Given the description of an element on the screen output the (x, y) to click on. 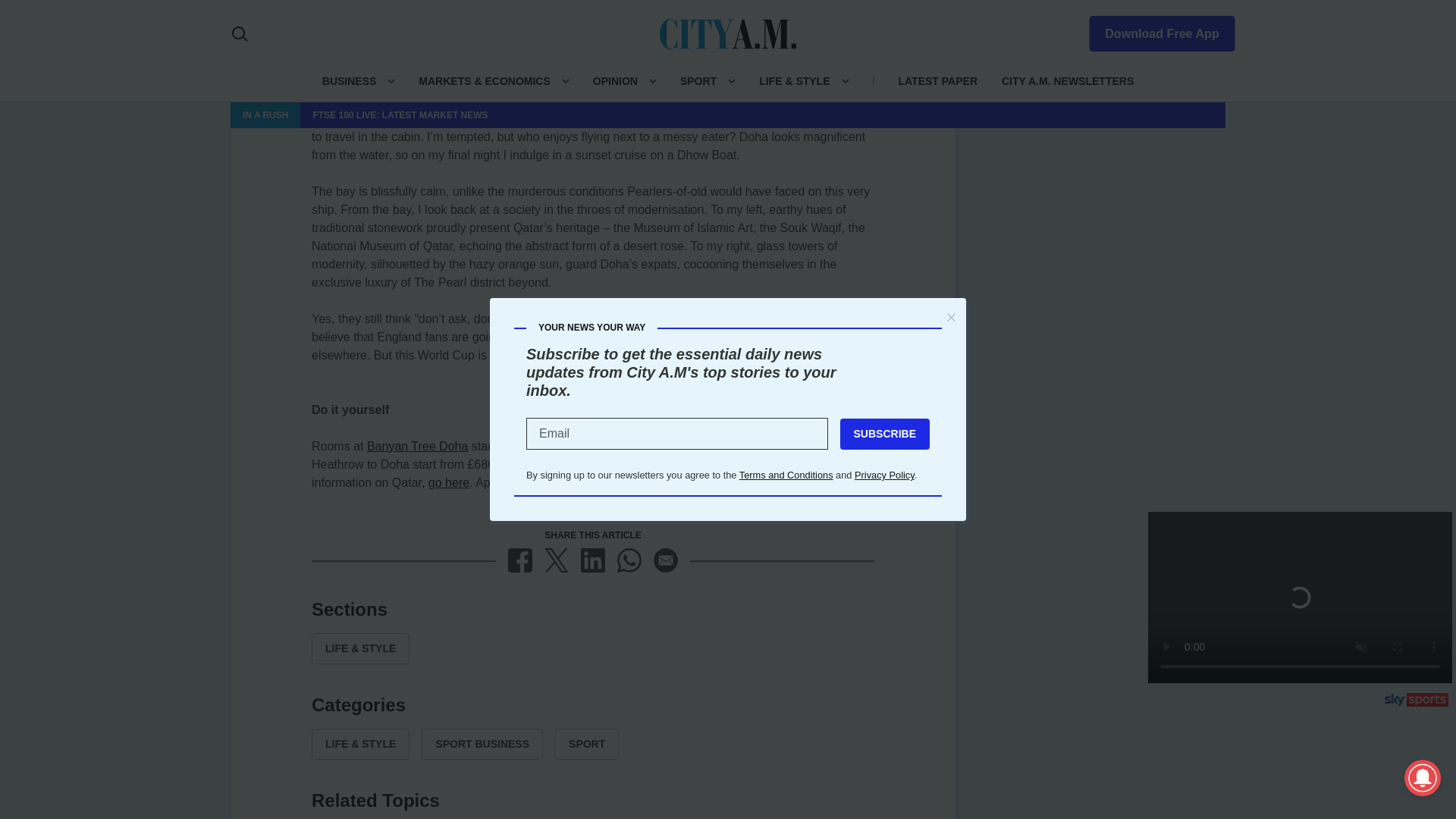
X (556, 559)
WhatsApp (629, 559)
Facebook (520, 559)
LinkedIn (592, 559)
Email (665, 559)
